Given the description of an element on the screen output the (x, y) to click on. 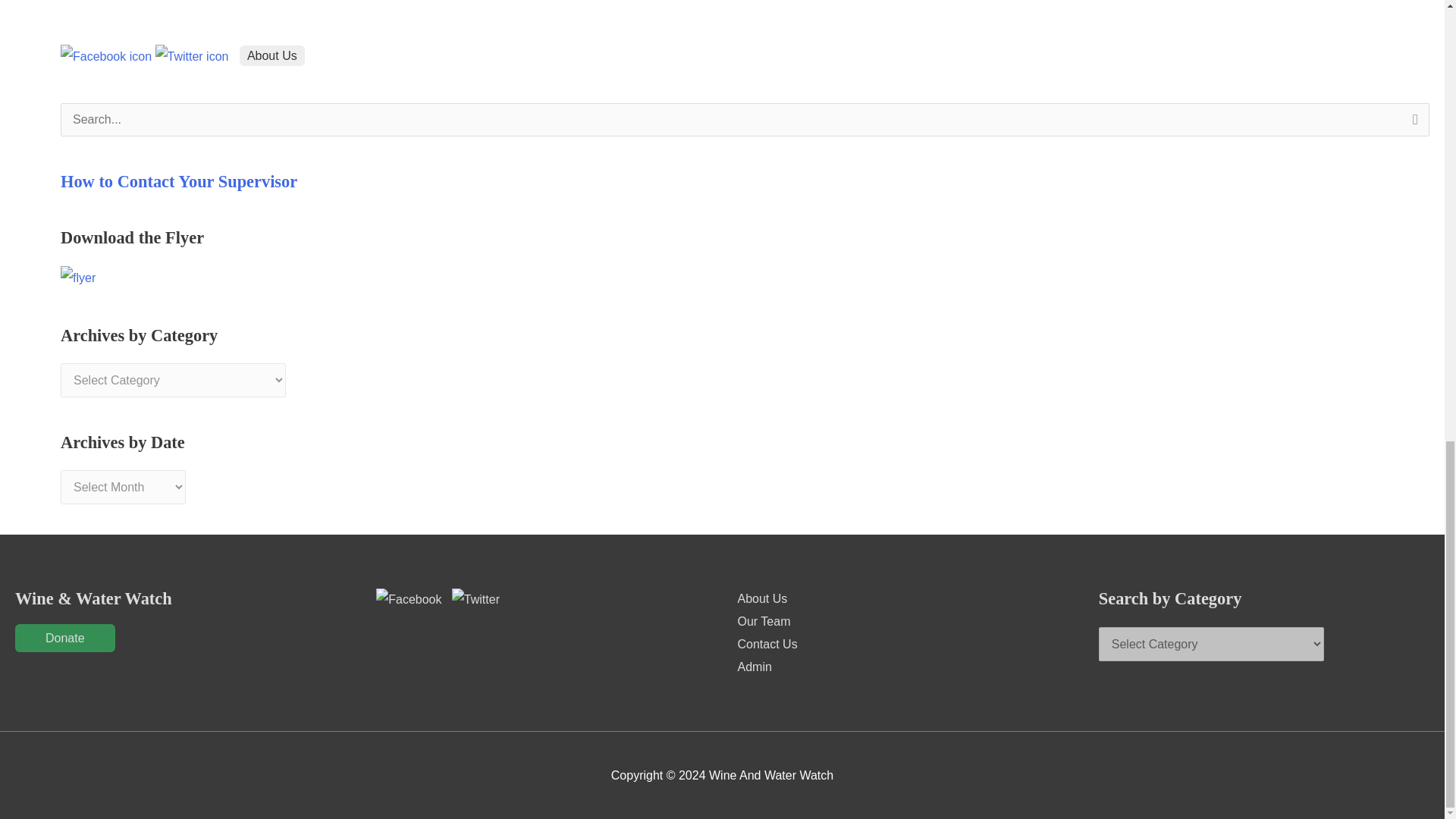
About Us (761, 598)
Our Team (763, 621)
About Us (272, 55)
How to Contact Your Supervisor (179, 180)
Admin (753, 666)
Contact Us (766, 644)
Donate (64, 637)
